Given the description of an element on the screen output the (x, y) to click on. 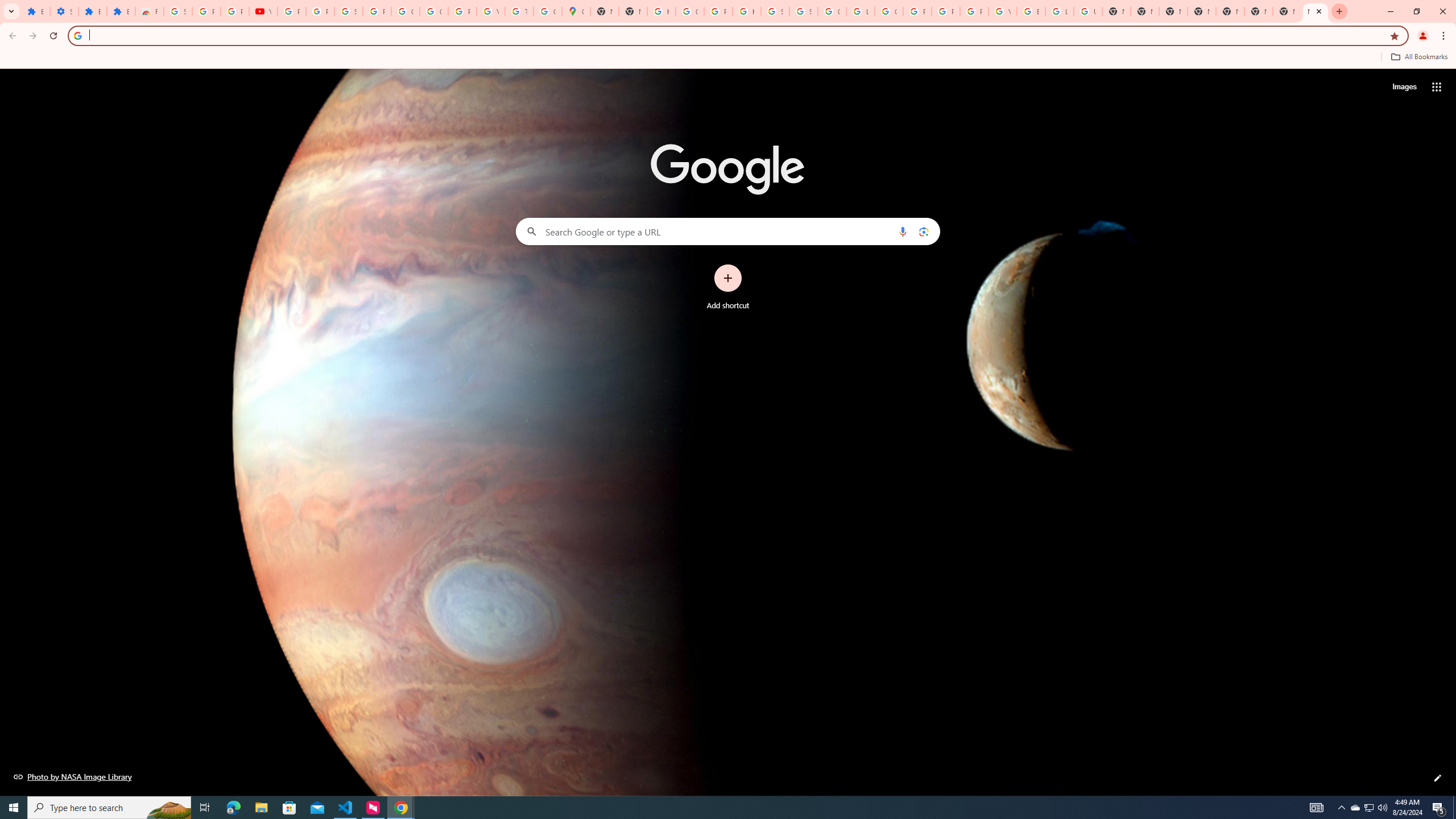
https://scholar.google.com/ (661, 11)
Photo by NASA Image Library (72, 776)
Add shortcut (727, 287)
Privacy Help Center - Policies Help (945, 11)
Bookmarks (728, 58)
Sign in - Google Accounts (803, 11)
